Given the description of an element on the screen output the (x, y) to click on. 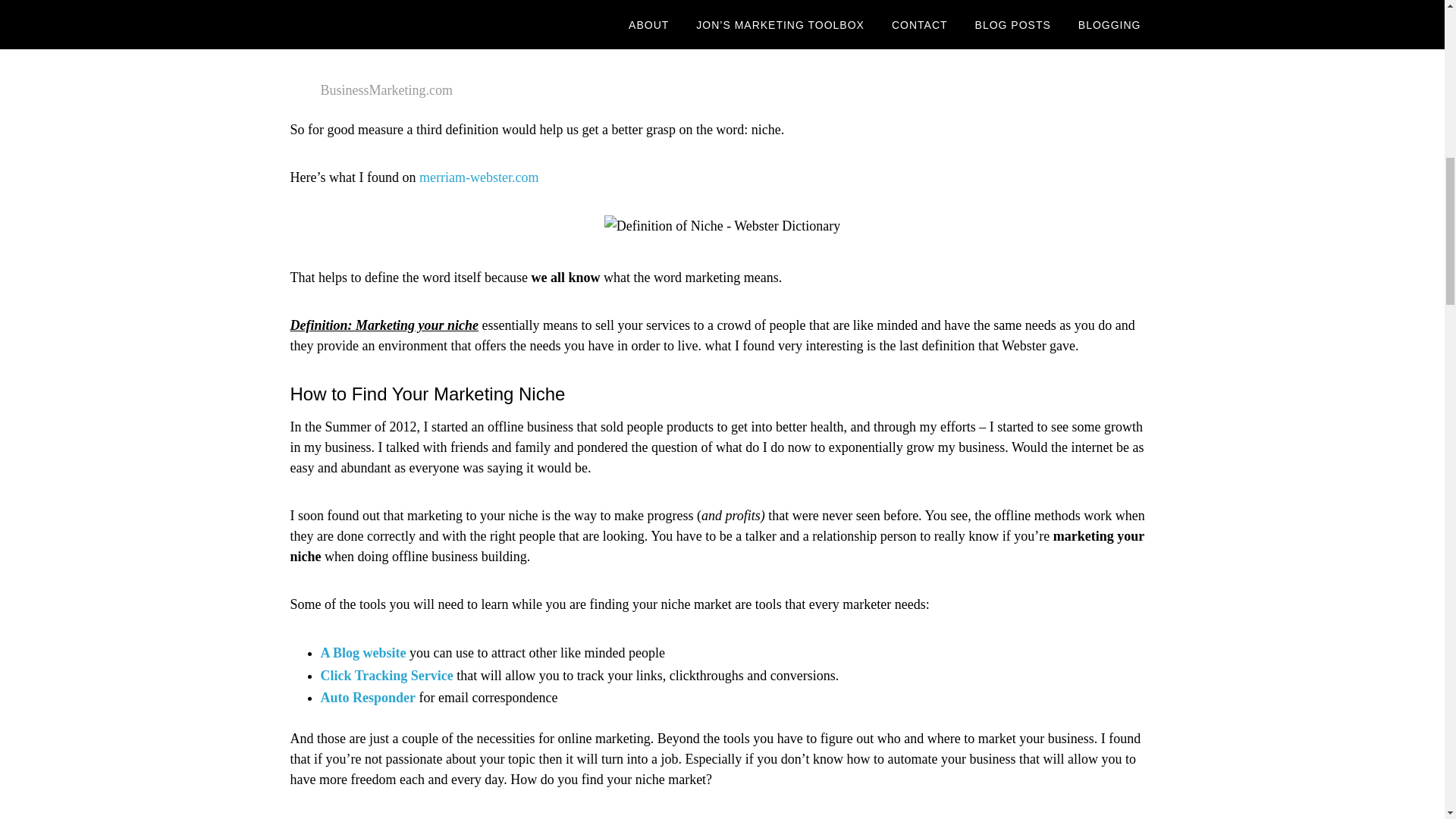
A Blog website (363, 652)
Auto Responder (367, 697)
merriam-webster.com (478, 177)
Click Tracking Service (386, 675)
